Given the description of an element on the screen output the (x, y) to click on. 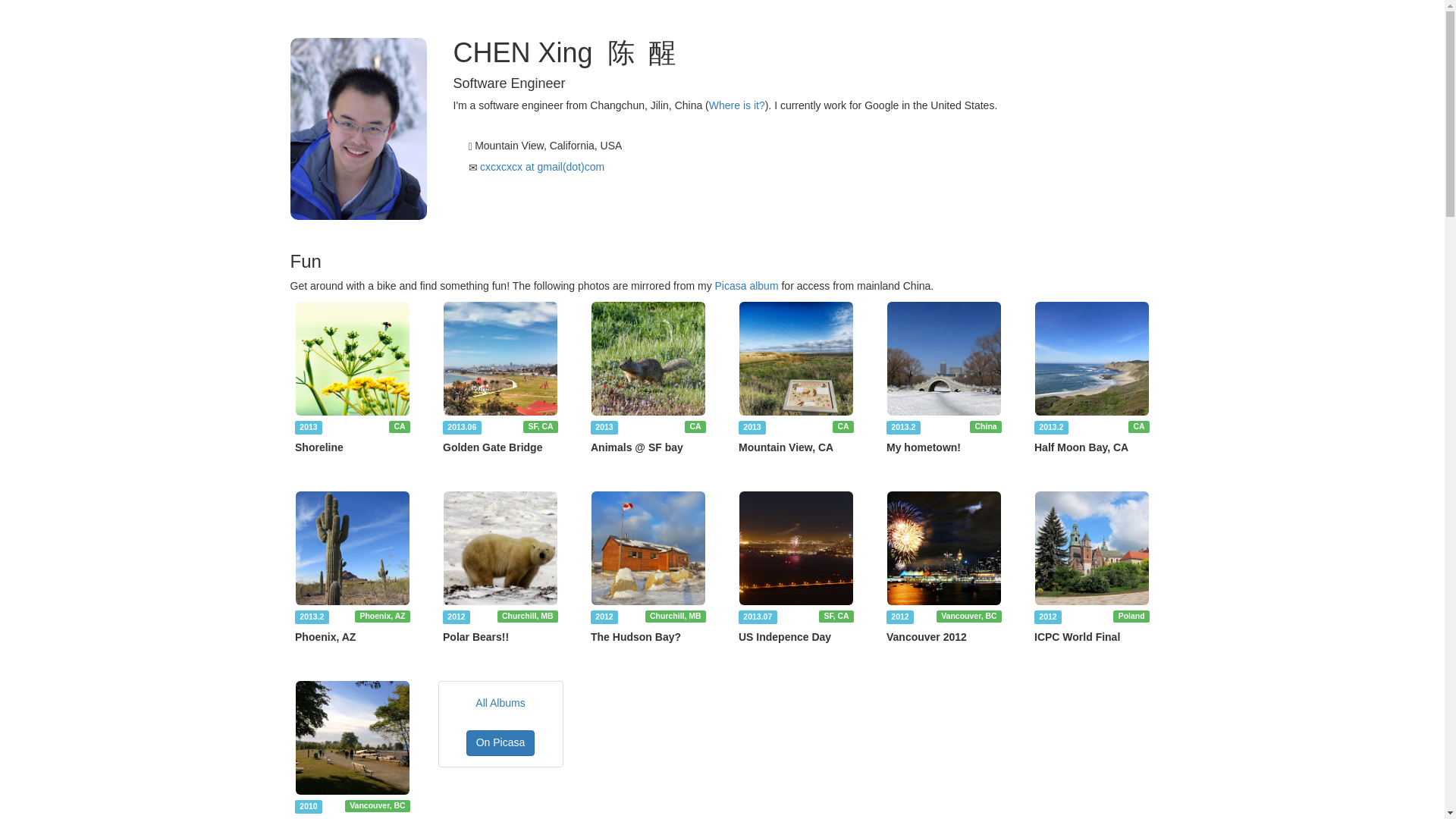
Picasa album (746, 285)
All Albums (499, 703)
On Picasa (500, 742)
Where is it? (737, 105)
